Given the description of an element on the screen output the (x, y) to click on. 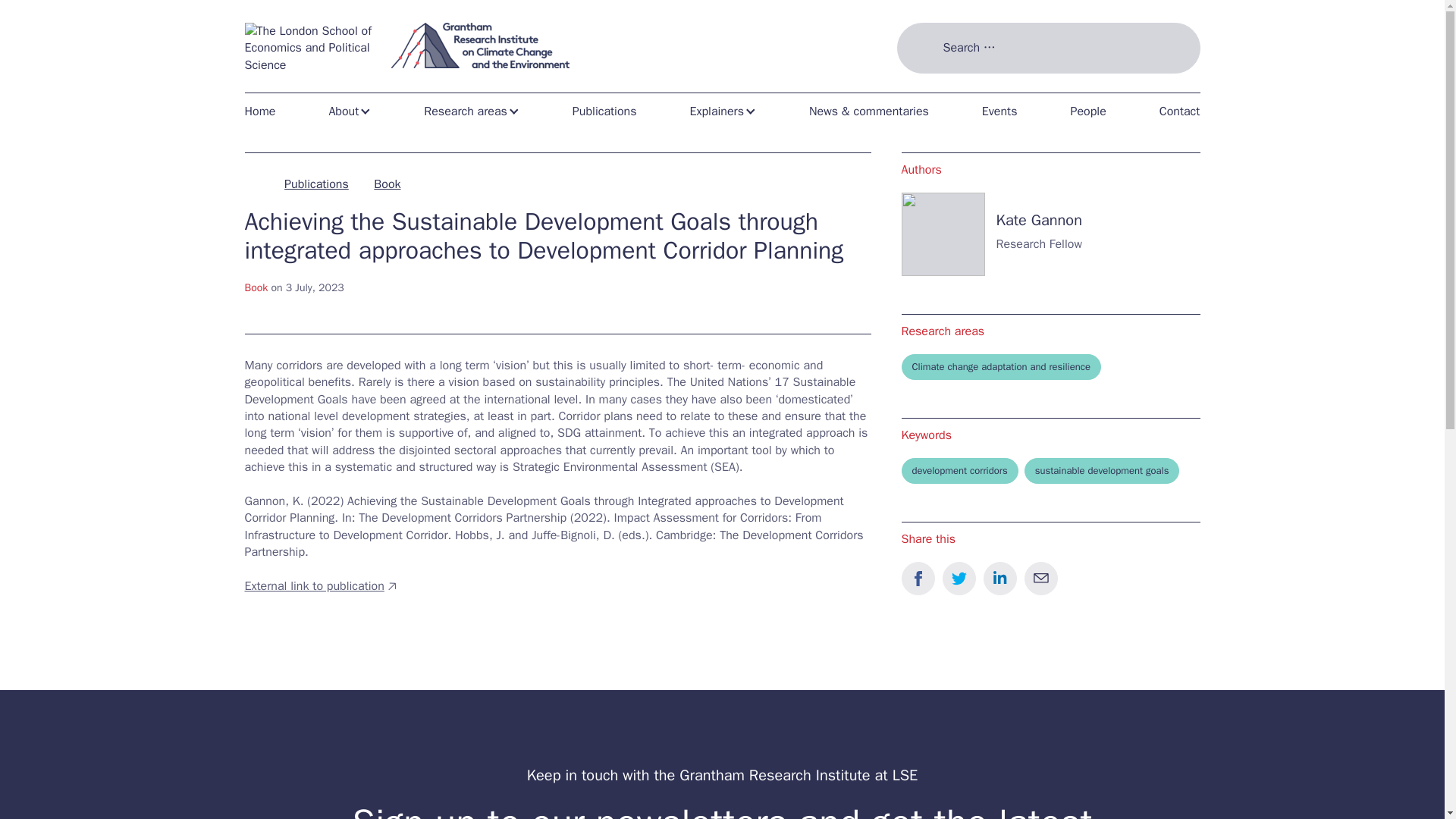
Home (265, 110)
Home (265, 110)
Search (922, 86)
Research areas (471, 110)
Explainers (722, 110)
Publications (604, 110)
Research areas (471, 110)
About (348, 110)
Explainers (722, 110)
Search (922, 86)
